Given the description of an element on the screen output the (x, y) to click on. 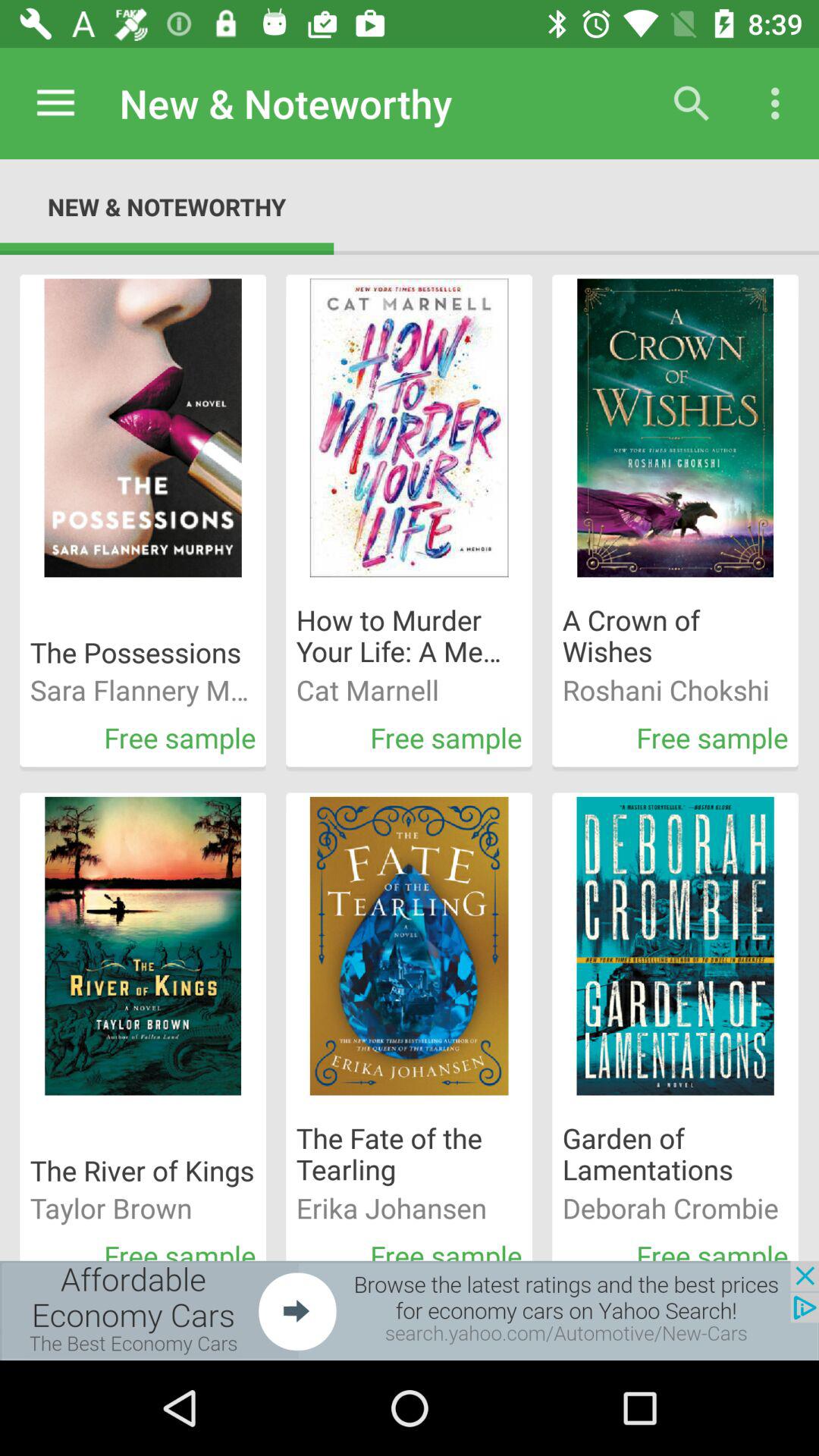
click advertisement (409, 1310)
